Given the description of an element on the screen output the (x, y) to click on. 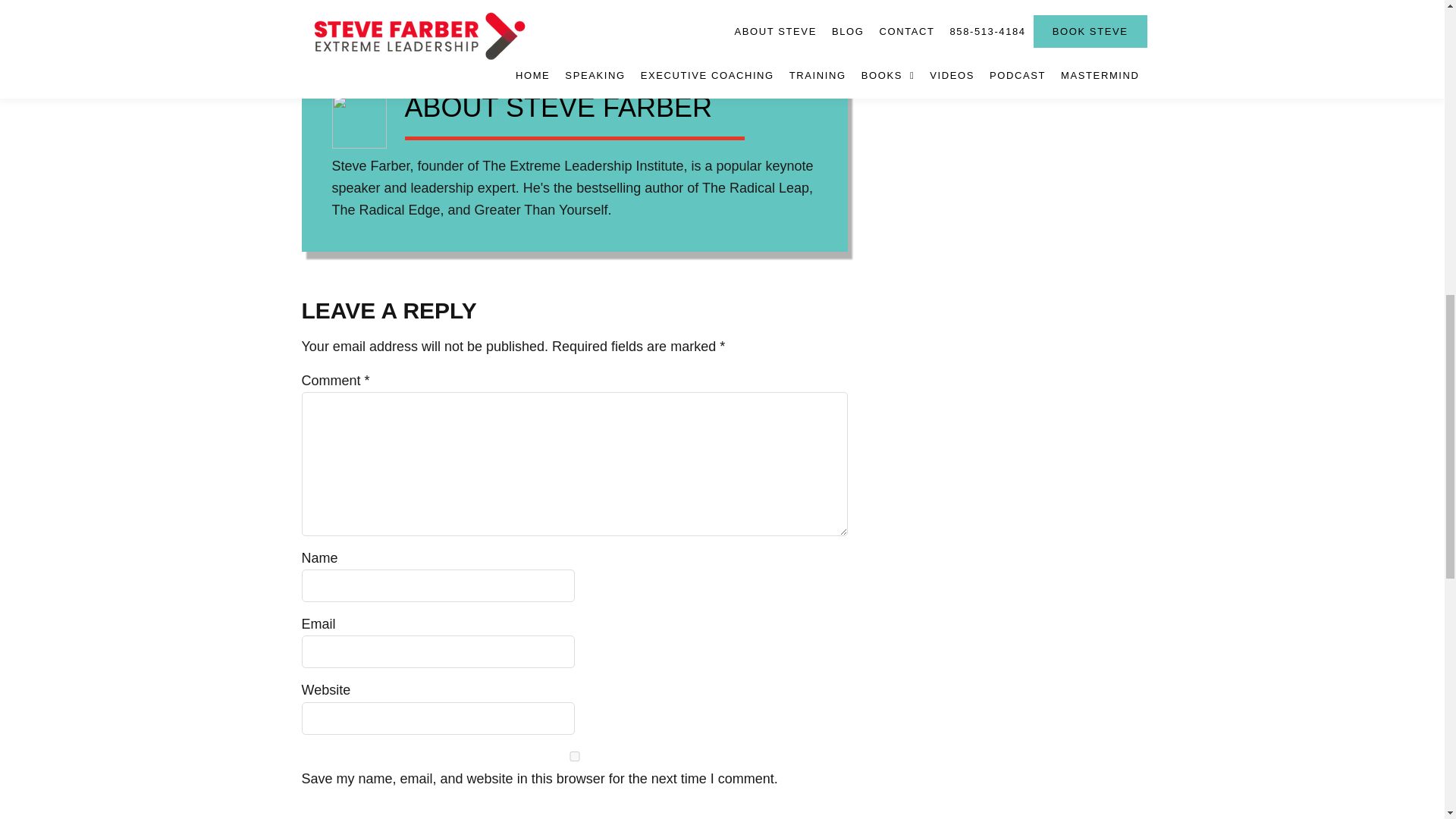
yes (574, 756)
leadership (333, 9)
the radical leap (523, 9)
the radical edge (420, 9)
